Given the description of an element on the screen output the (x, y) to click on. 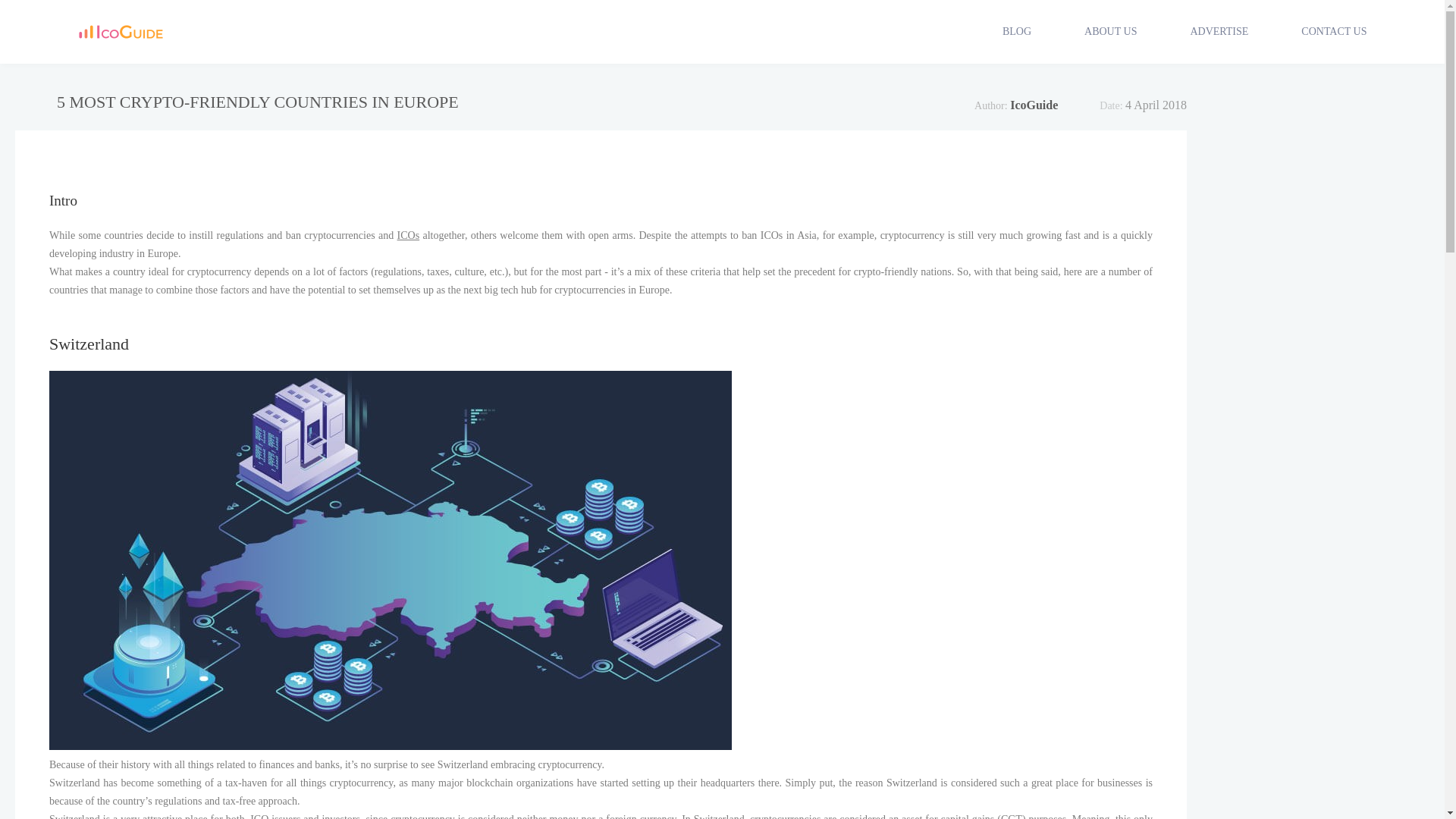
ABOUT US (1110, 31)
ICOs (408, 235)
CONTACT US (1334, 31)
BLOG (1016, 31)
ADVERTISE (1218, 31)
